Given the description of an element on the screen output the (x, y) to click on. 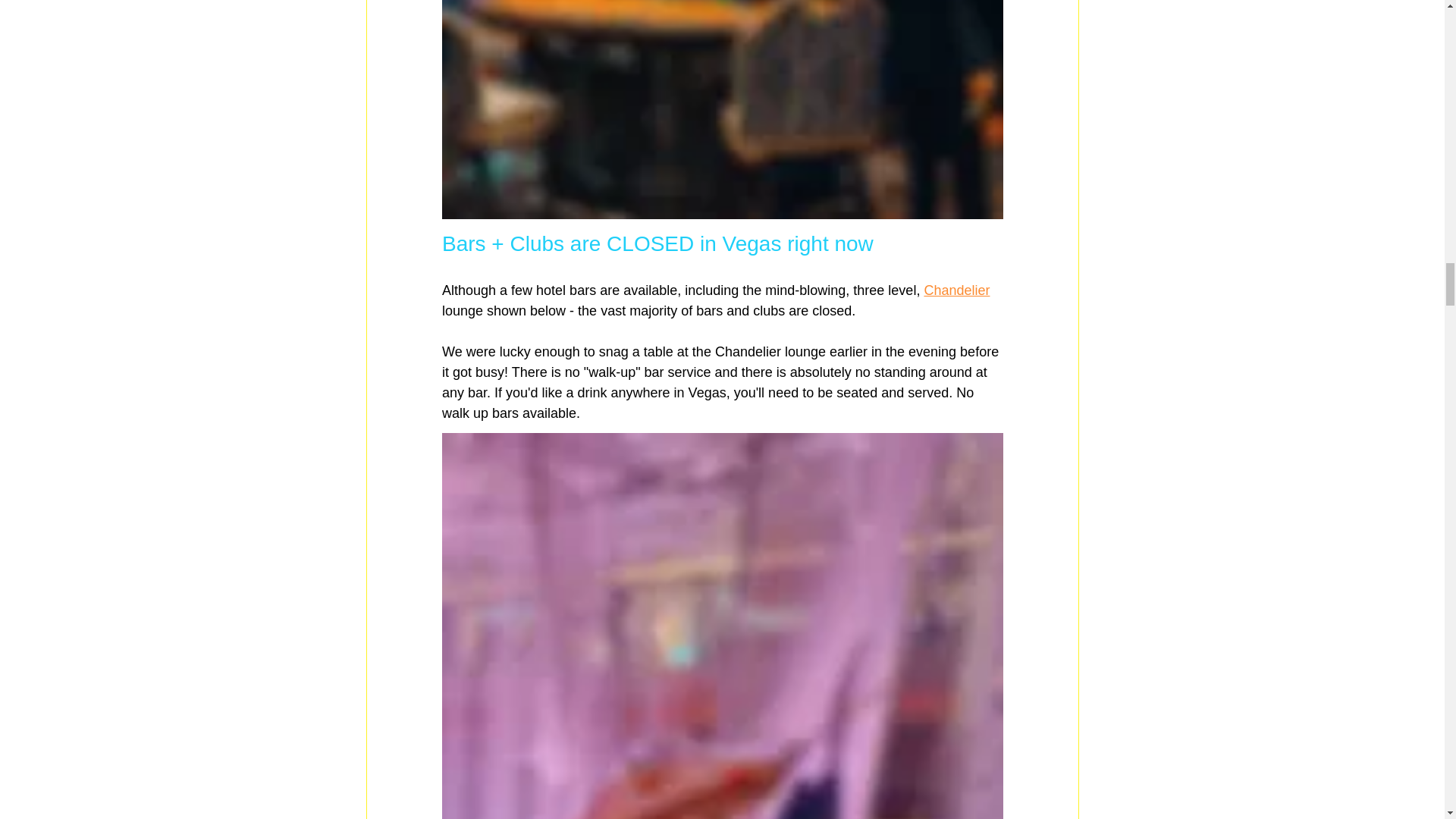
Chandelier (956, 290)
